Given the description of an element on the screen output the (x, y) to click on. 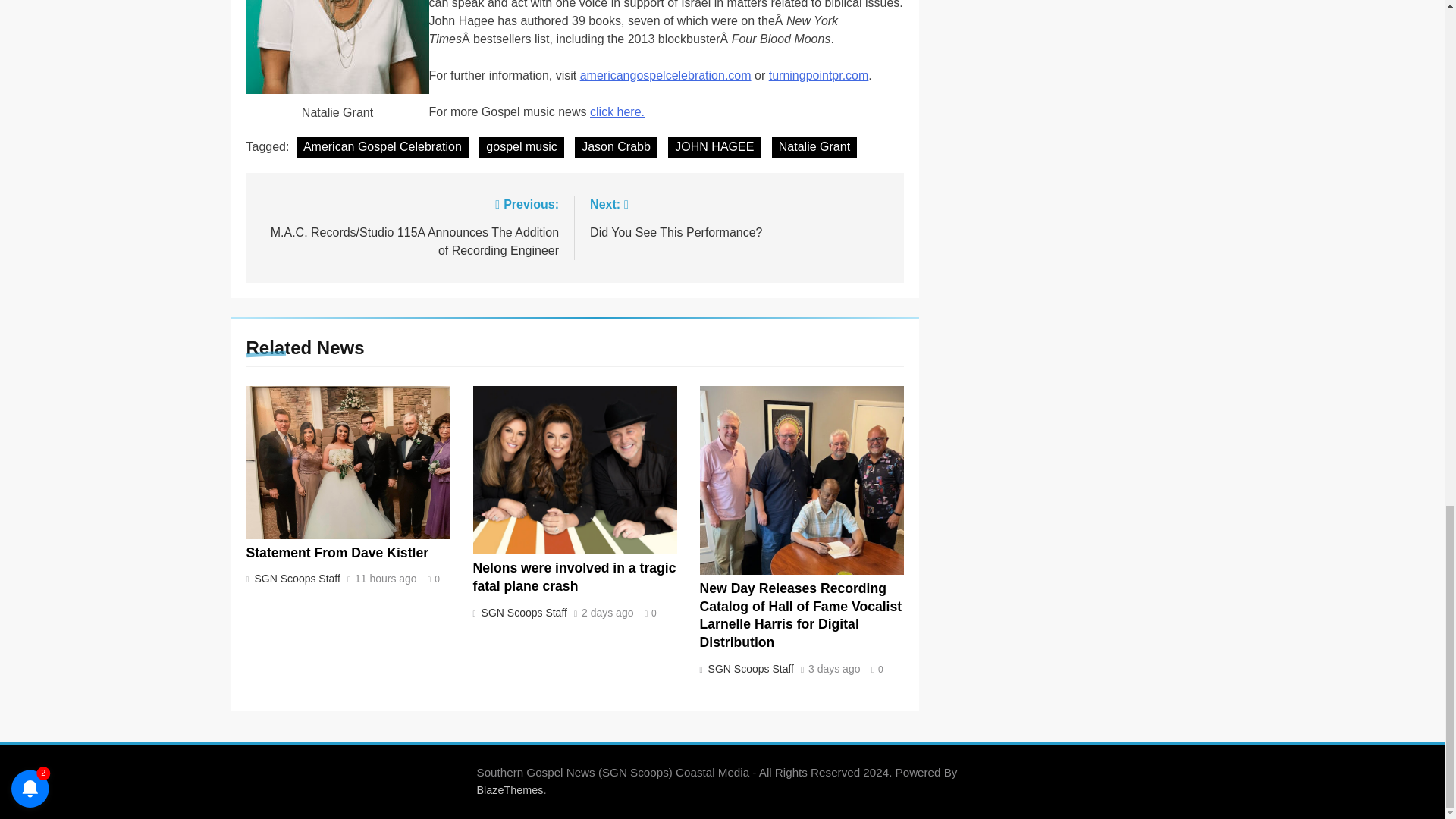
JOHN HAGEE (714, 147)
American Gospel Celebration (382, 147)
SGN Scoops Staff (295, 578)
2 days ago (606, 613)
turningpointpr.com (818, 74)
americangospelcelebration.com (738, 217)
Nelons were involved in a tragic fatal plane crash (665, 74)
gospel music (575, 576)
SGN Scoops Staff (521, 147)
Natalie Grant (522, 612)
click here. (814, 147)
Jason Crabb (617, 111)
11 hours ago (616, 147)
